Given the description of an element on the screen output the (x, y) to click on. 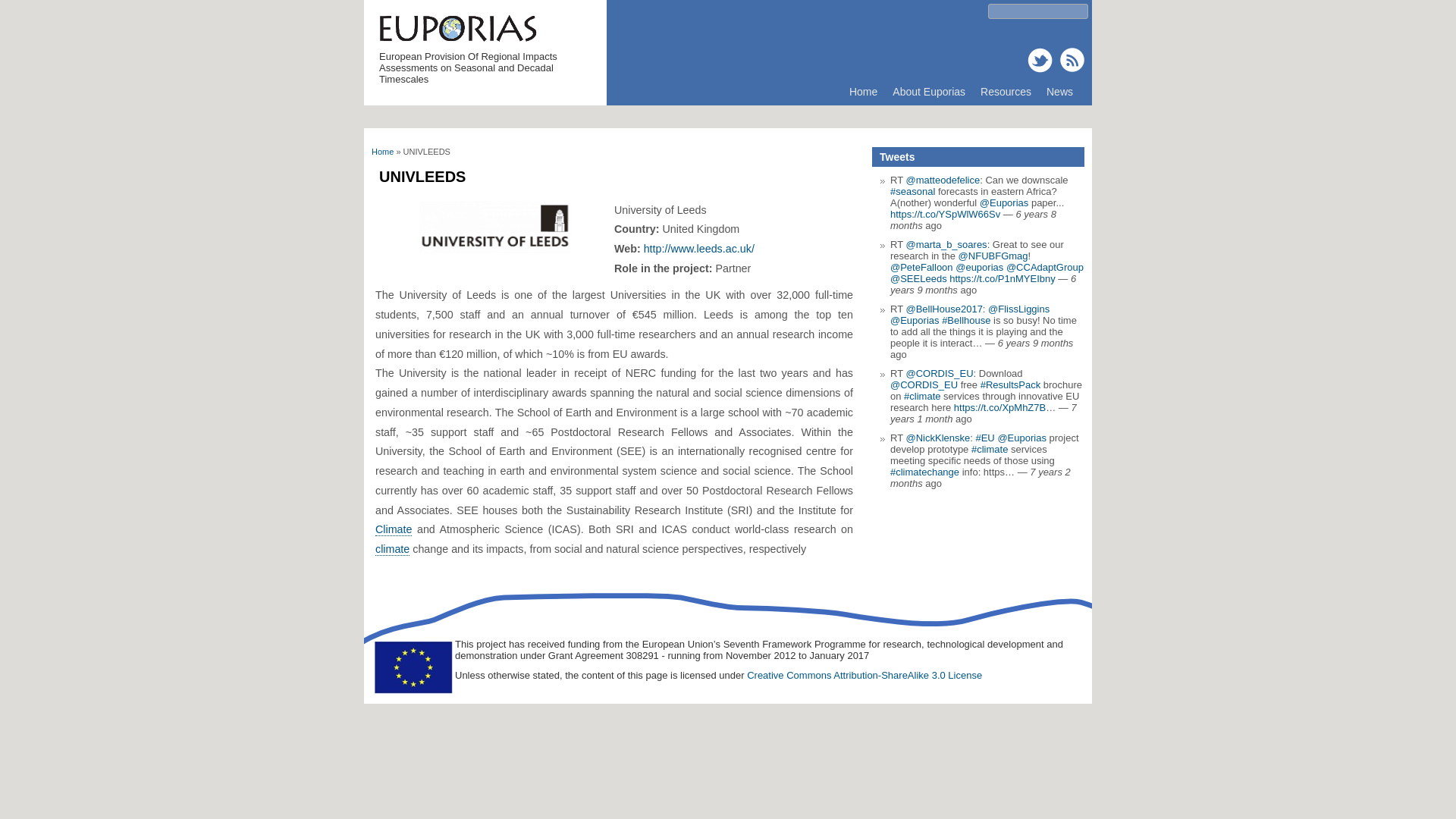
Search (22, 10)
Home (382, 151)
Resources (1005, 91)
News (1059, 91)
About Euporias (928, 91)
Home (863, 91)
About Euporias (928, 91)
Resources (1005, 91)
Home (456, 41)
Climate (393, 529)
